Given the description of an element on the screen output the (x, y) to click on. 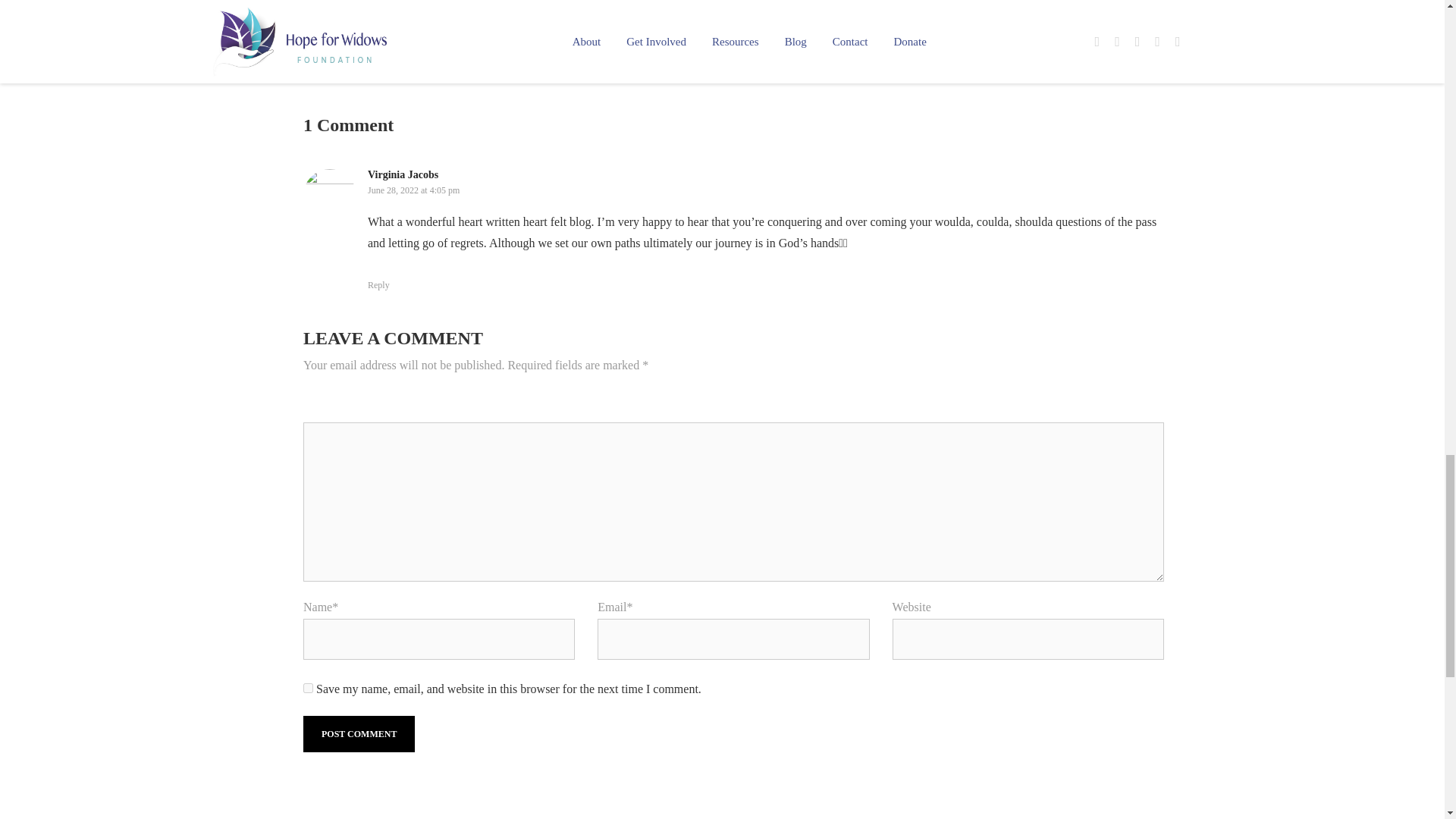
Post Comment (358, 733)
yes (307, 687)
